Given the description of an element on the screen output the (x, y) to click on. 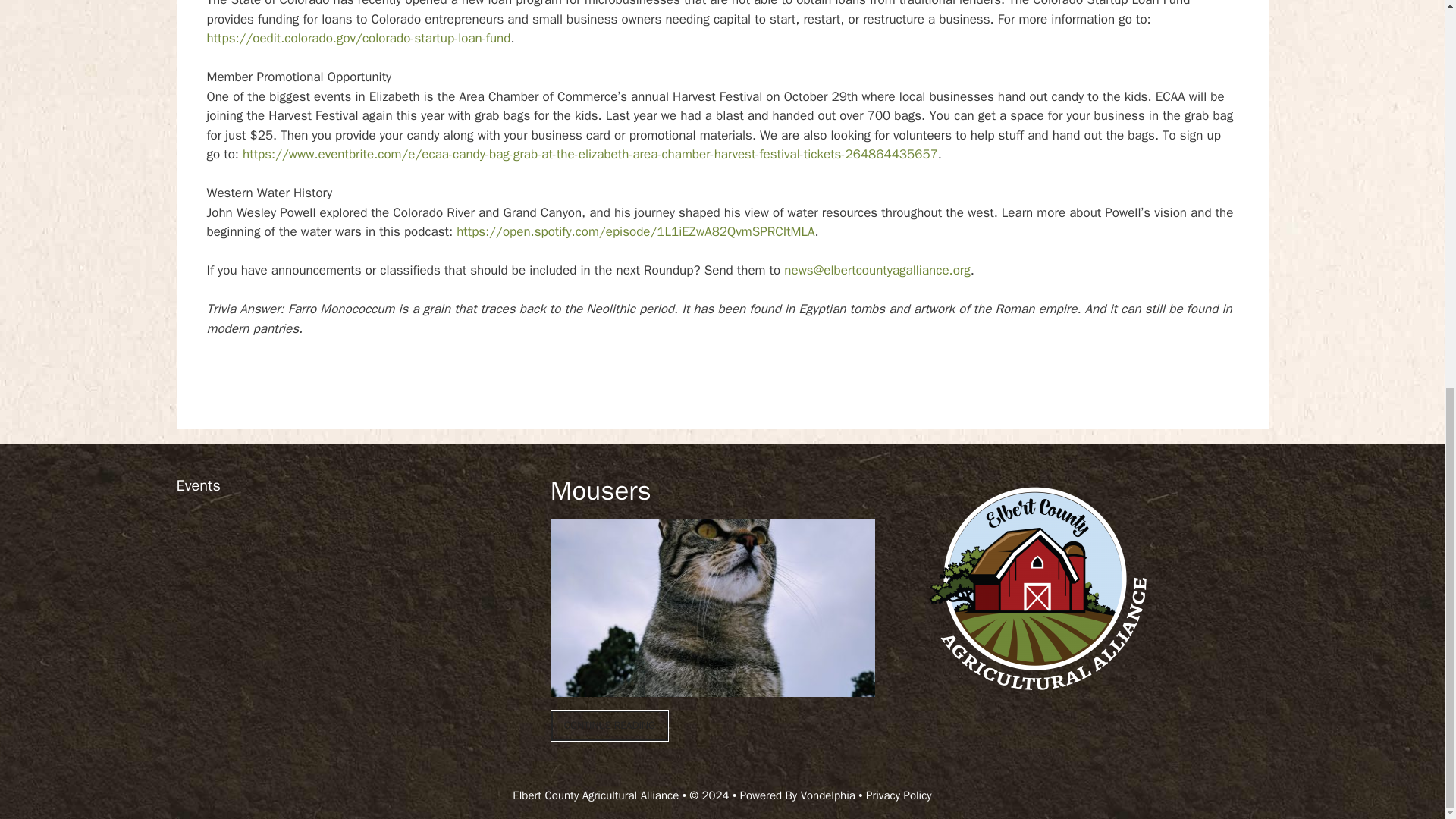
Scroll back to top (1406, 802)
Mousers (609, 725)
Privacy Policy (898, 795)
Mousers (600, 490)
CONTINUE READING (609, 725)
Mousers (712, 686)
